Given the description of an element on the screen output the (x, y) to click on. 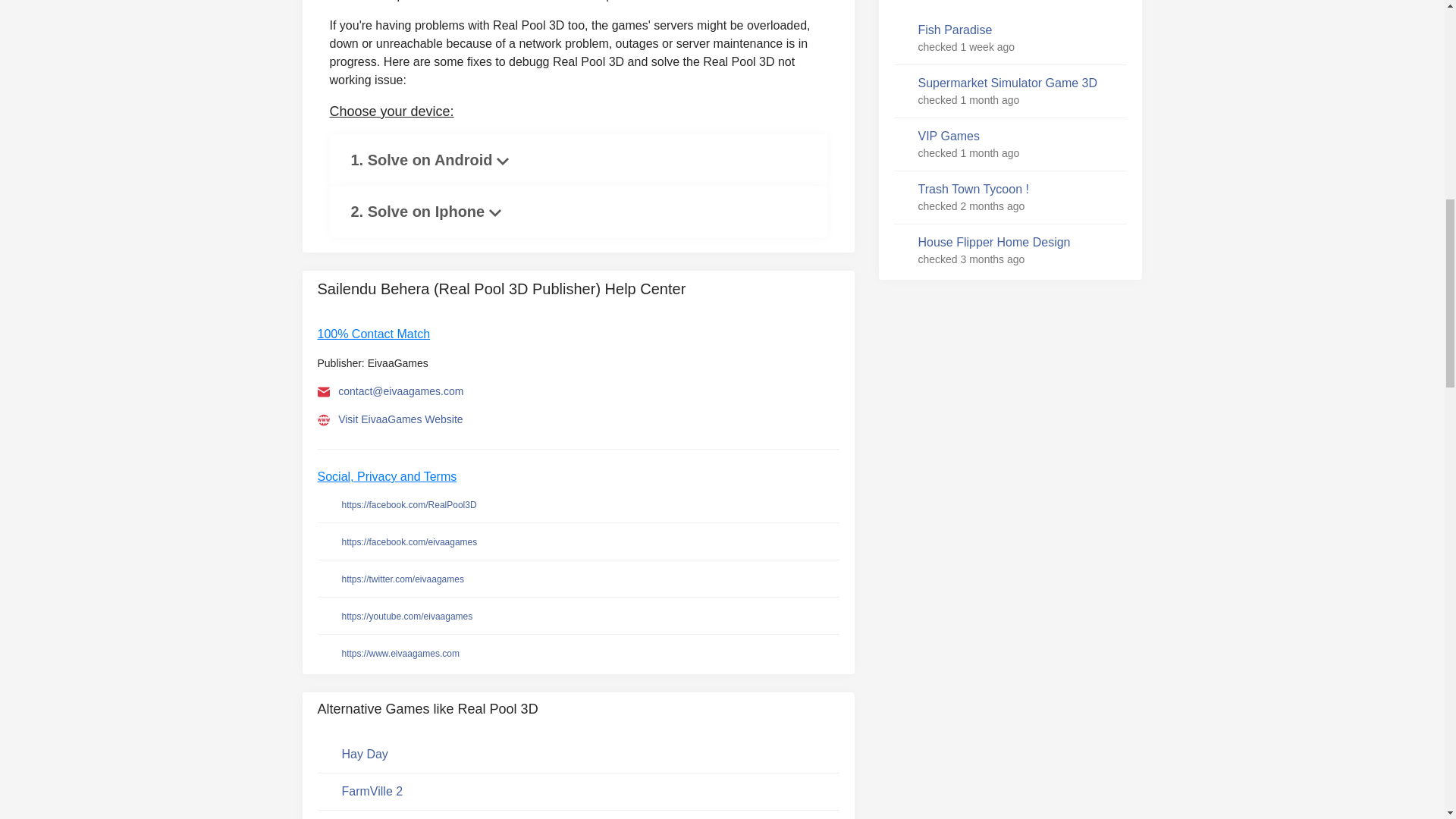
1. Solve on Android (429, 159)
Trash Town Tycoon ! (972, 189)
FarmVille 2 (371, 790)
House Flipper Home Design (993, 242)
Supermarket Simulator Game 3D (1007, 83)
2. Solve on Iphone (424, 211)
Fish Paradise - Aquarium Live (954, 30)
Hay Day (363, 754)
Visit EivaaGames Website (400, 419)
Hay Day (363, 753)
FarmVille 2: Country Escape (371, 791)
